Given the description of an element on the screen output the (x, y) to click on. 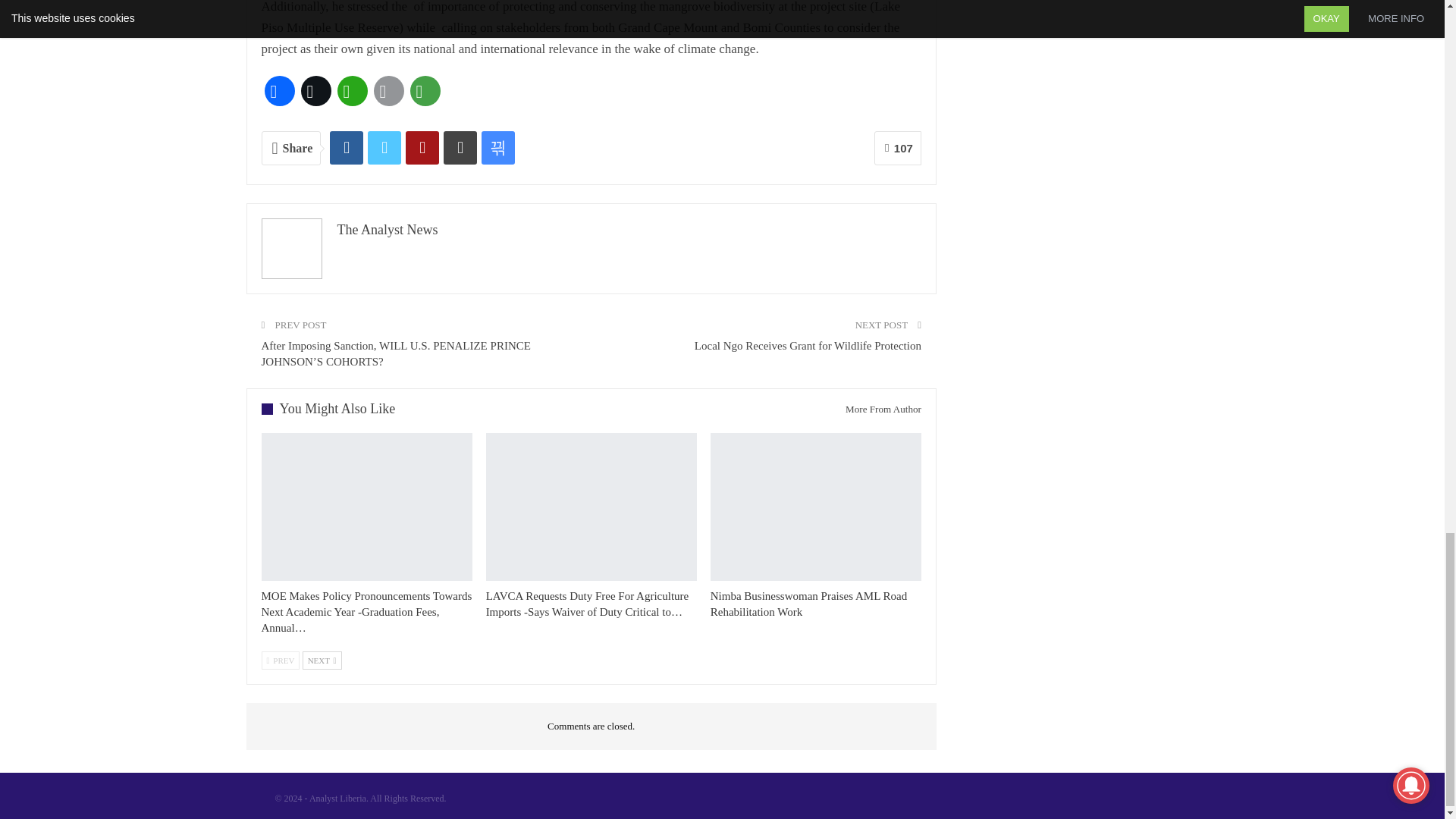
WhatsApp (351, 90)
Email This (387, 90)
More Options (424, 90)
Facebook (278, 90)
